Given the description of an element on the screen output the (x, y) to click on. 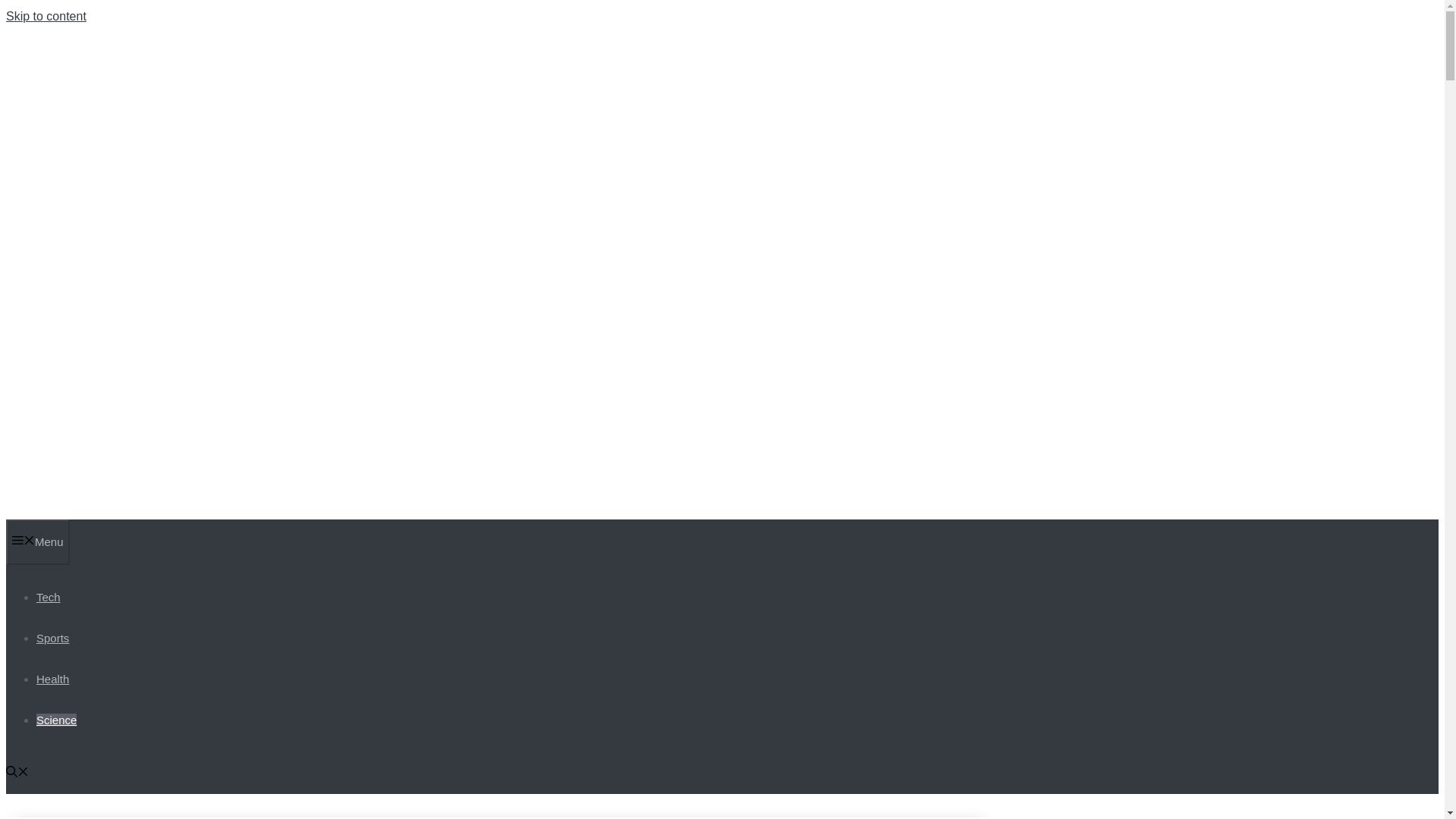
Science (56, 719)
Health (52, 678)
Sports (52, 637)
Menu (37, 542)
Skip to content (45, 15)
FOGGENIESINC (170, 412)
Tech (48, 596)
Skip to content (45, 15)
